Given the description of an element on the screen output the (x, y) to click on. 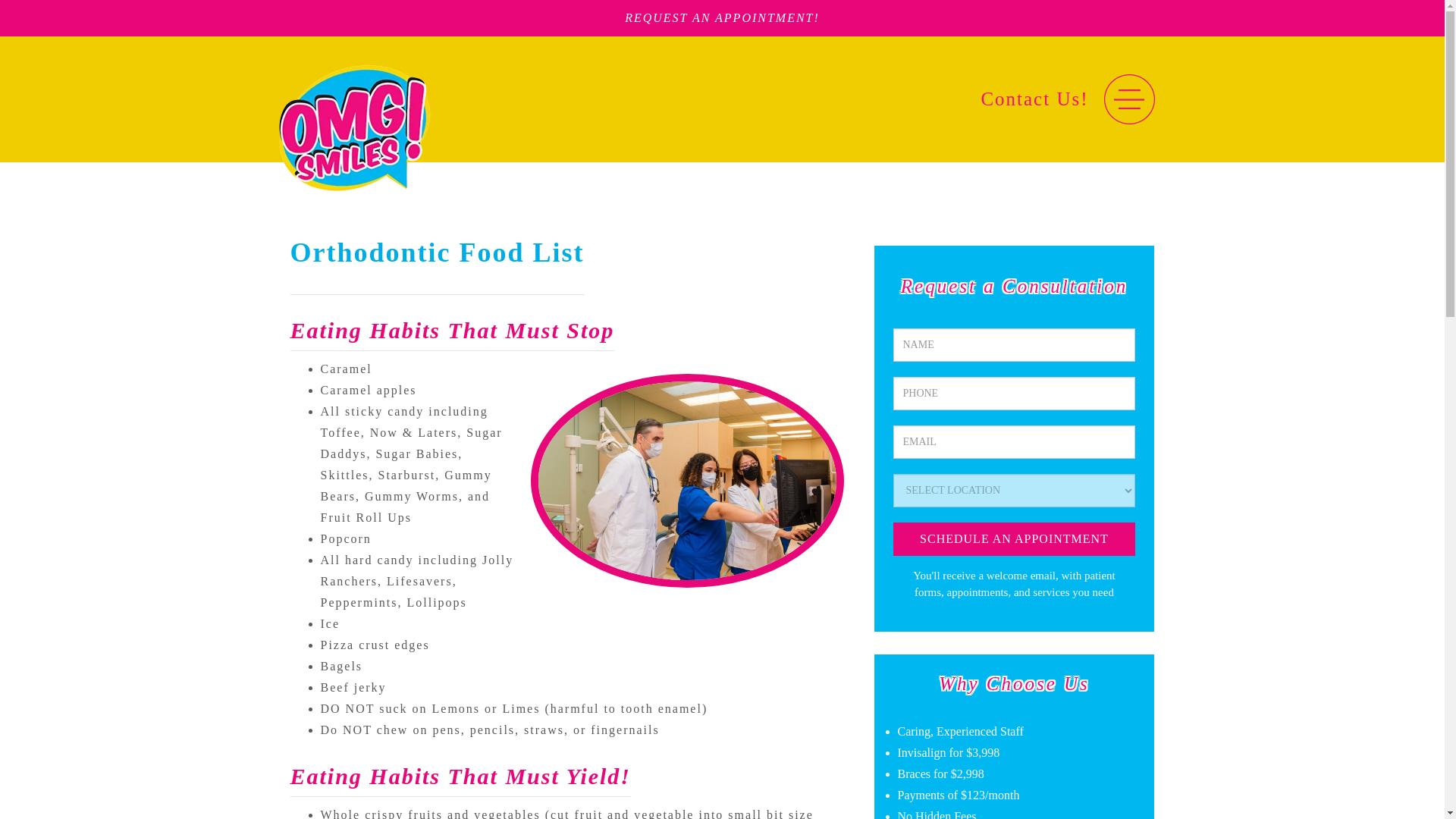
SCHEDULE AN APPOINTMENT (1014, 538)
Contact Us! (1033, 98)
REQUEST AN APPOINTMENT! (721, 17)
